Given the description of an element on the screen output the (x, y) to click on. 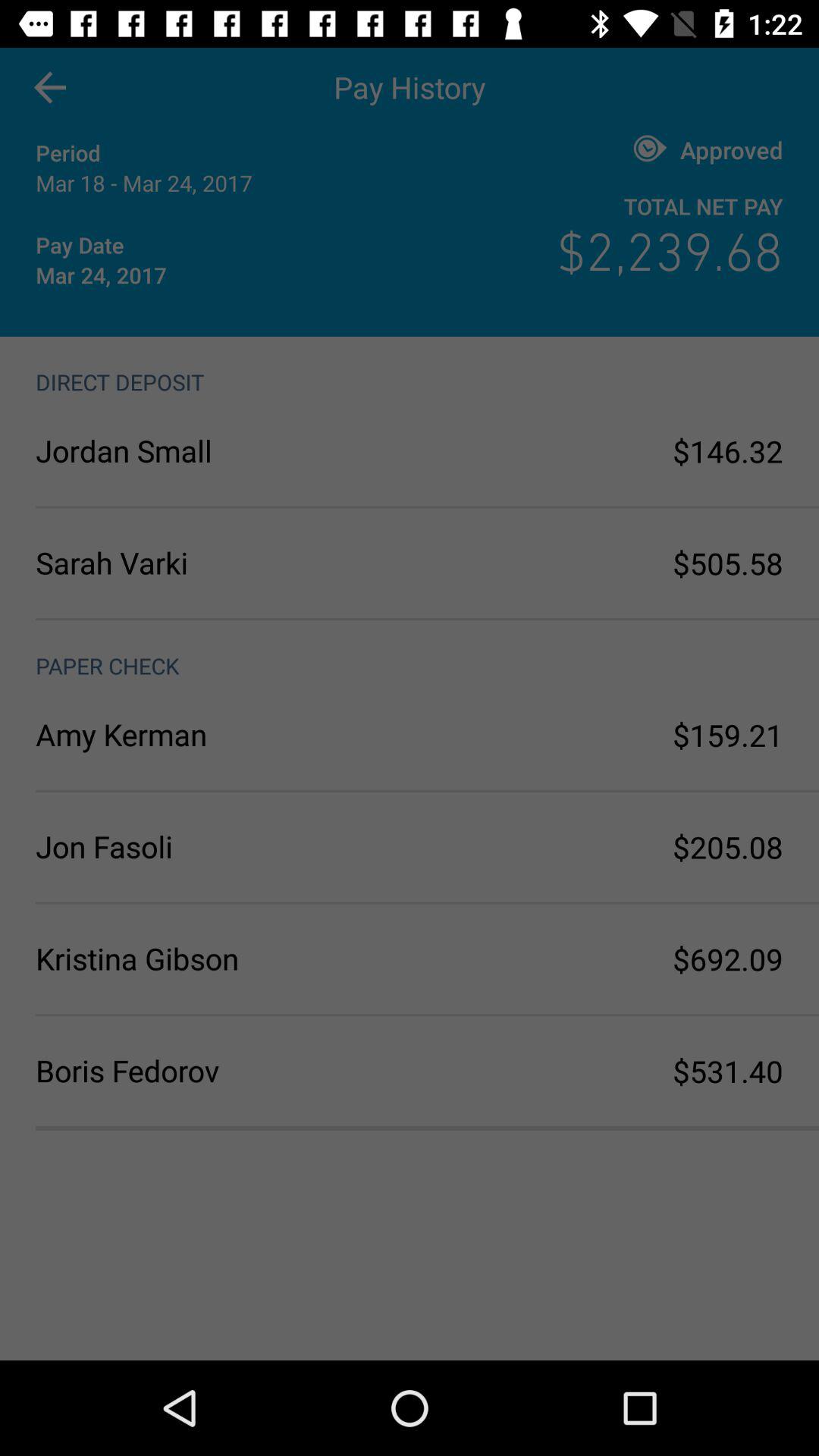
click the icon above kristina gibson icon (222, 846)
